Given the description of an element on the screen output the (x, y) to click on. 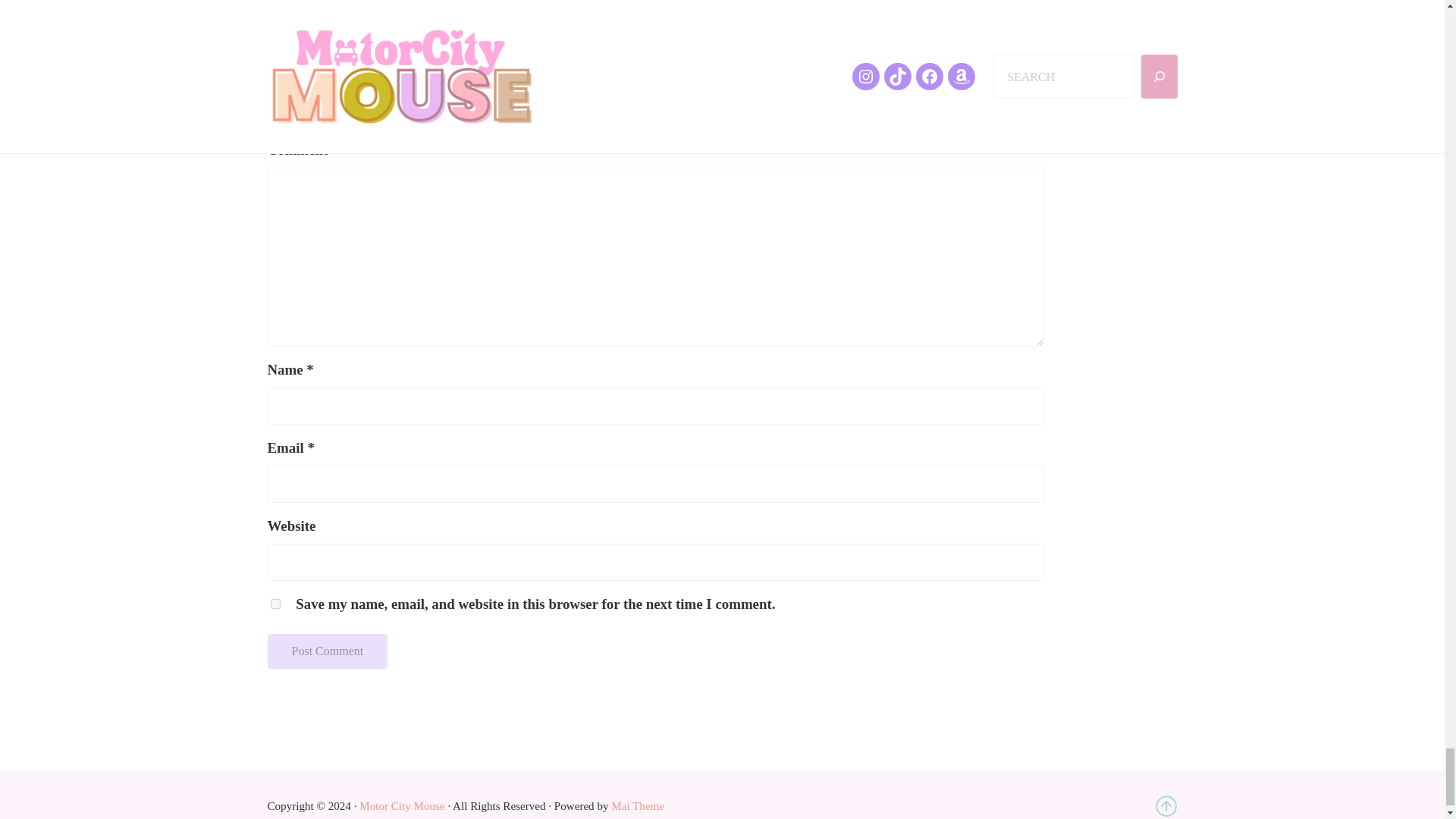
Post Comment (326, 651)
yes (274, 603)
